Given the description of an element on the screen output the (x, y) to click on. 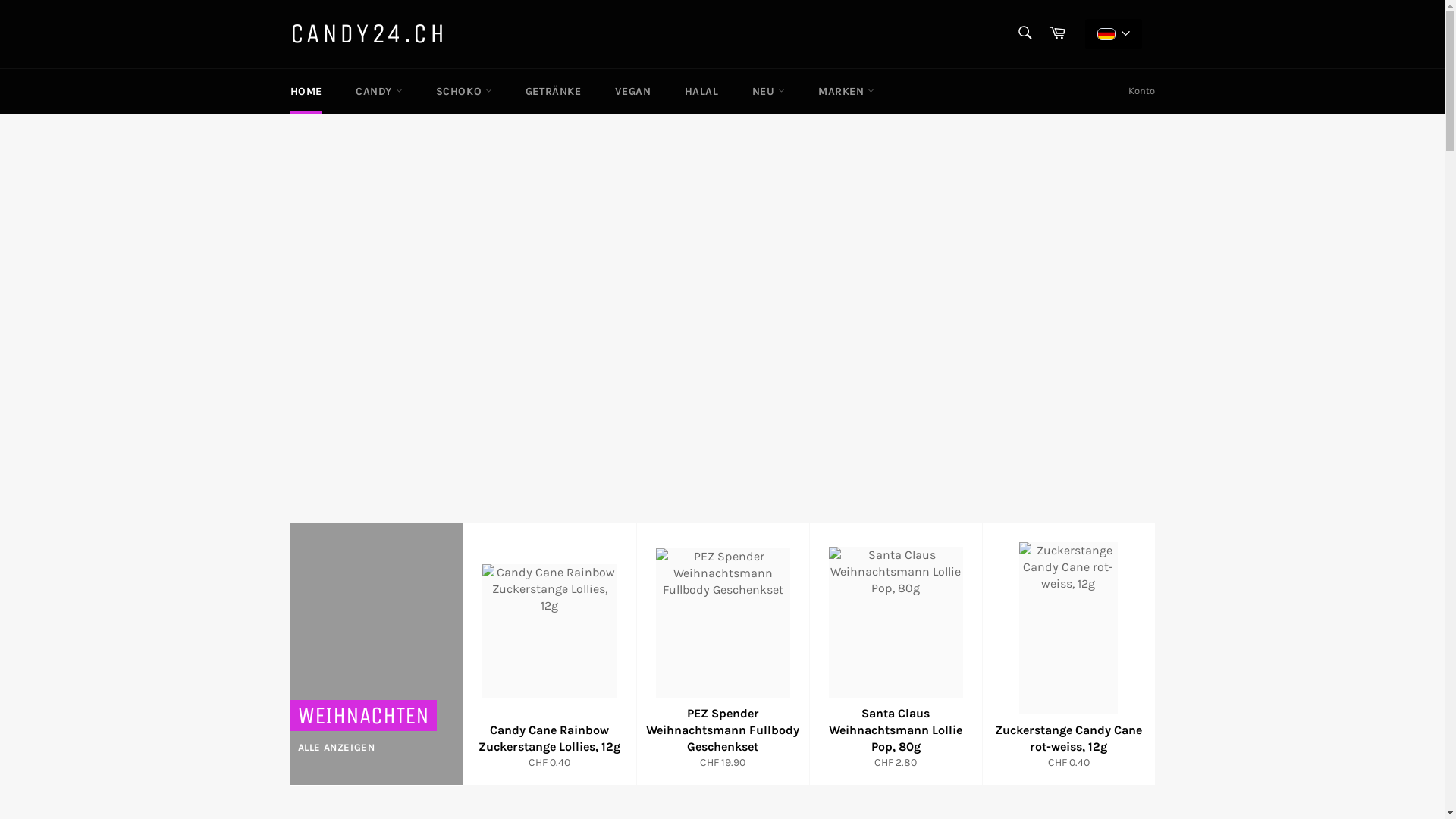
Konto Element type: text (1141, 90)
NEU Element type: text (768, 90)
HALAL Element type: text (701, 90)
CANDY24.CH Element type: text (367, 34)
VEGAN Element type: text (632, 90)
Warenkorb Element type: text (1057, 33)
HOME Element type: text (305, 90)
WEIHNACHTEN
ALLE ANZEIGEN Element type: text (375, 653)
CANDY Element type: text (378, 90)
MARKEN Element type: text (846, 90)
SCHOKO Element type: text (463, 90)
Suchen Element type: text (1024, 32)
